Given the description of an element on the screen output the (x, y) to click on. 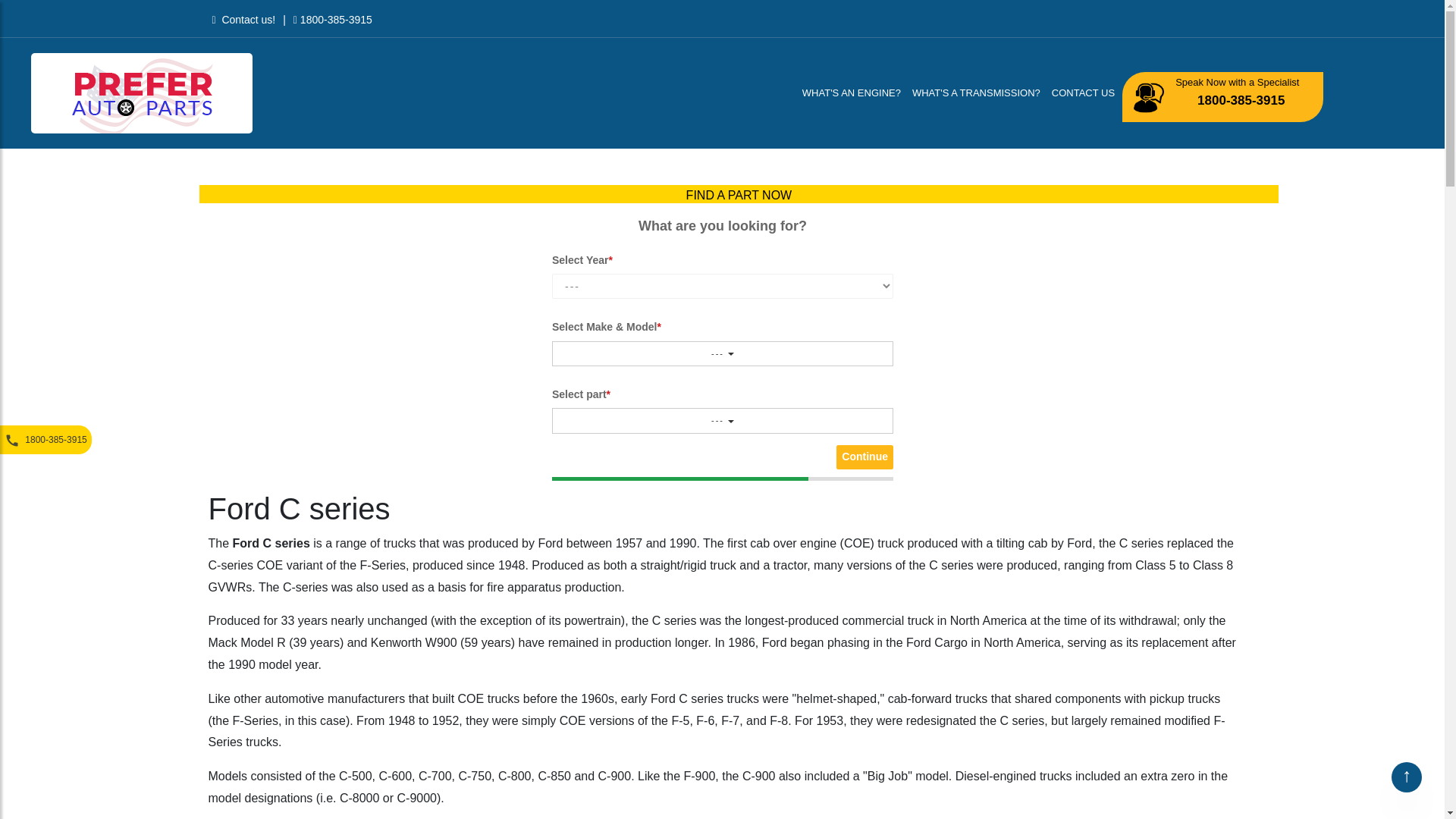
WHAT'S AN ENGINE? (853, 93)
 Contact us! (244, 19)
CONTACT US (1084, 93)
1800-385-3915 (1241, 102)
WHAT'S A TRANSMISSION? (977, 93)
